Given the description of an element on the screen output the (x, y) to click on. 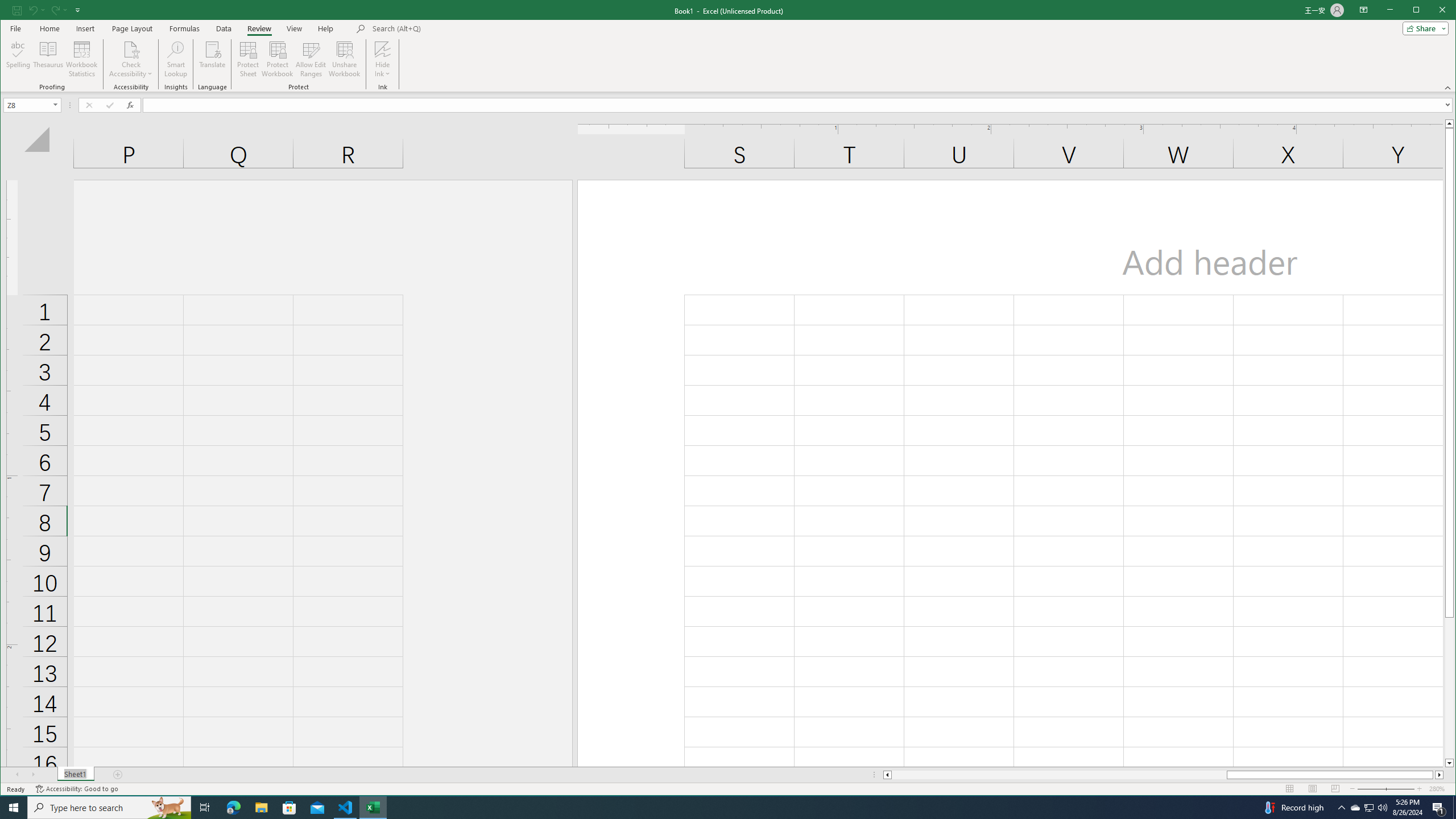
Spelling... (18, 59)
